Given the description of an element on the screen output the (x, y) to click on. 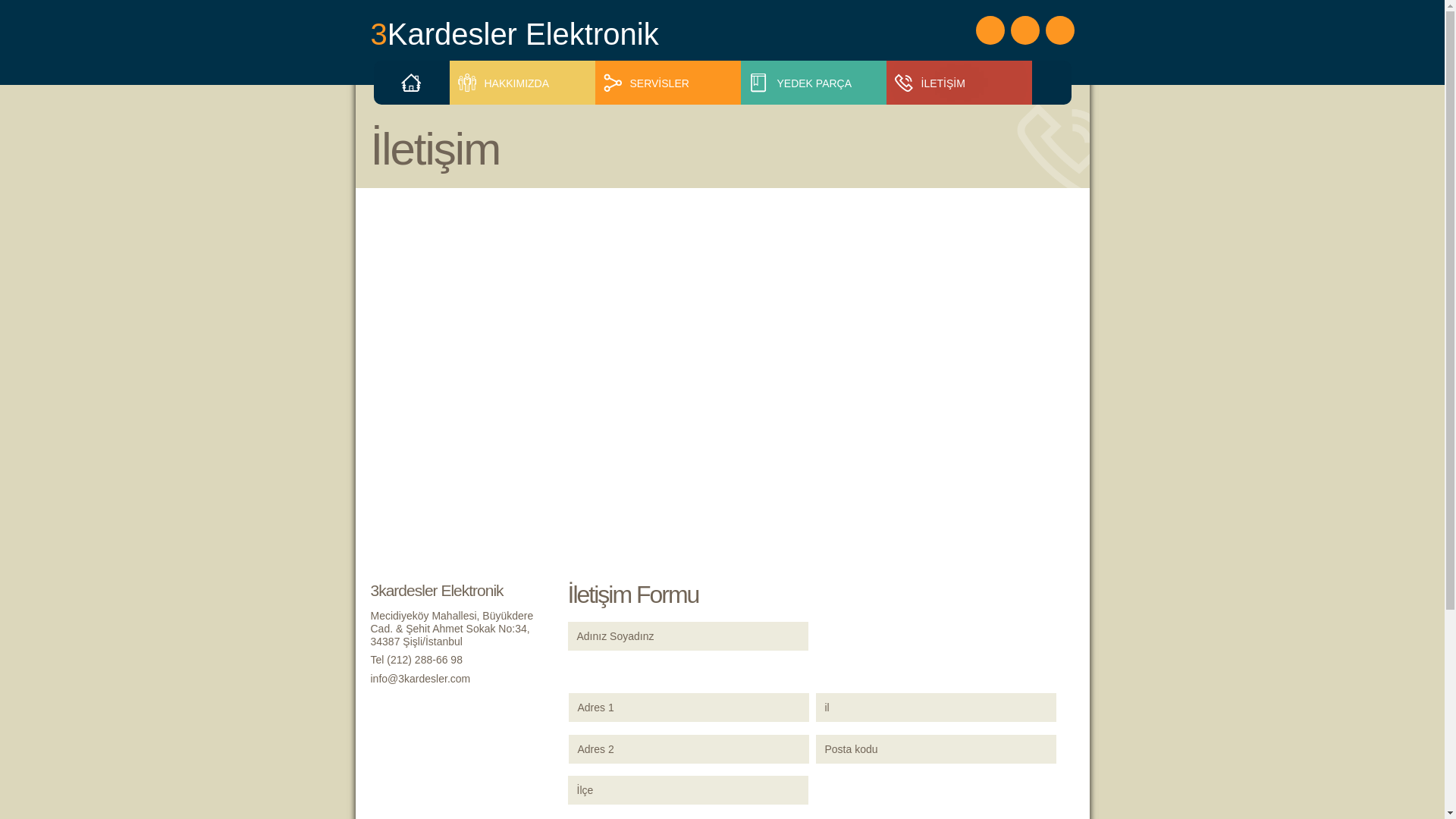
HAKKIMIZDA Element type: text (525, 83)
3Kardesler Elektronik Element type: text (543, 33)
